Given the description of an element on the screen output the (x, y) to click on. 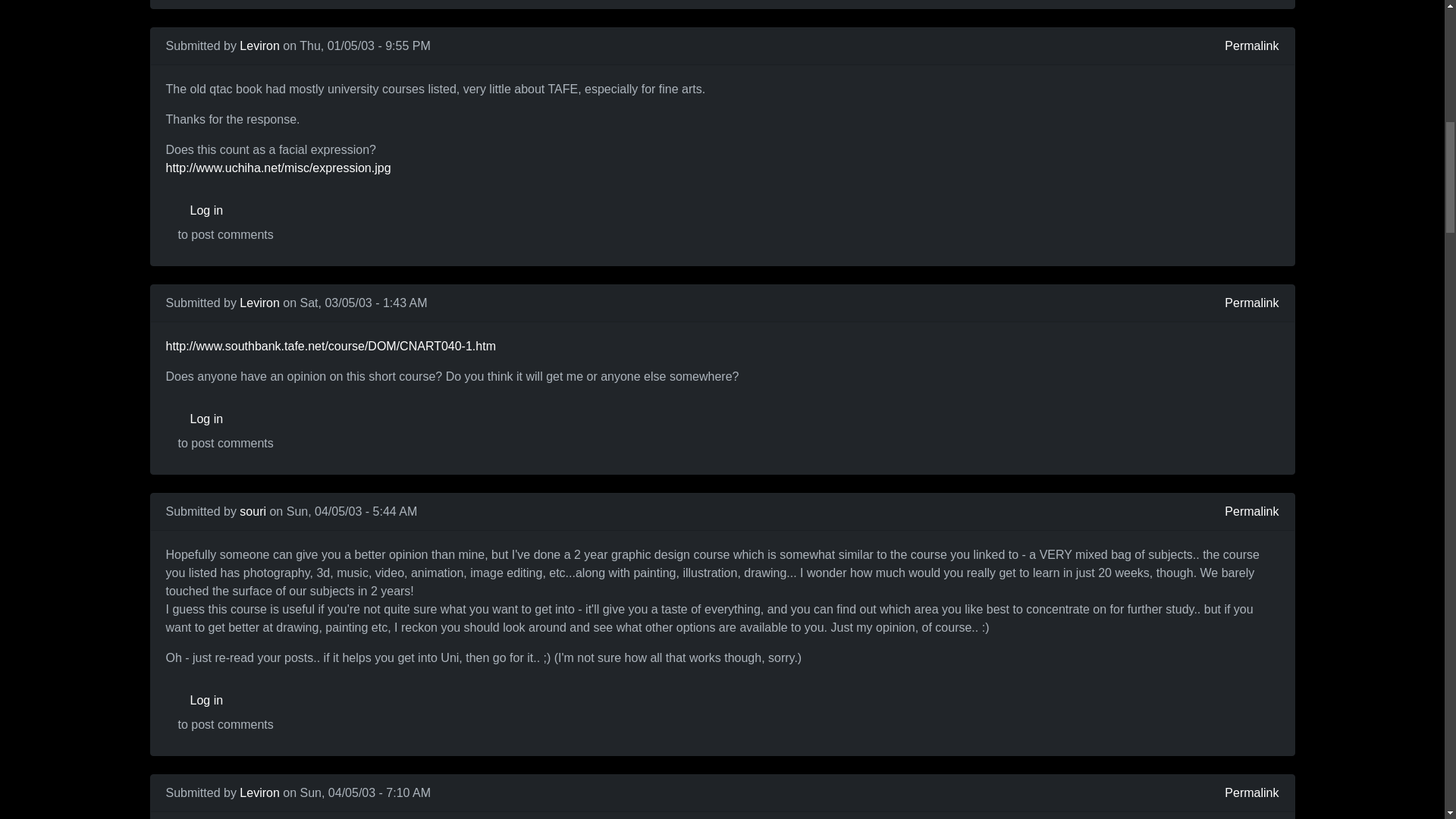
View user profile. (259, 792)
Log in (225, 210)
Permalink (1251, 511)
Permalink (1251, 303)
Leviron (259, 302)
Leviron (259, 792)
View user profile. (259, 45)
Leviron (259, 45)
Log in (225, 419)
View user profile. (253, 511)
souri (253, 511)
Log in (225, 700)
View user profile. (259, 302)
Permalink (1251, 792)
Permalink (1251, 45)
